Given the description of an element on the screen output the (x, y) to click on. 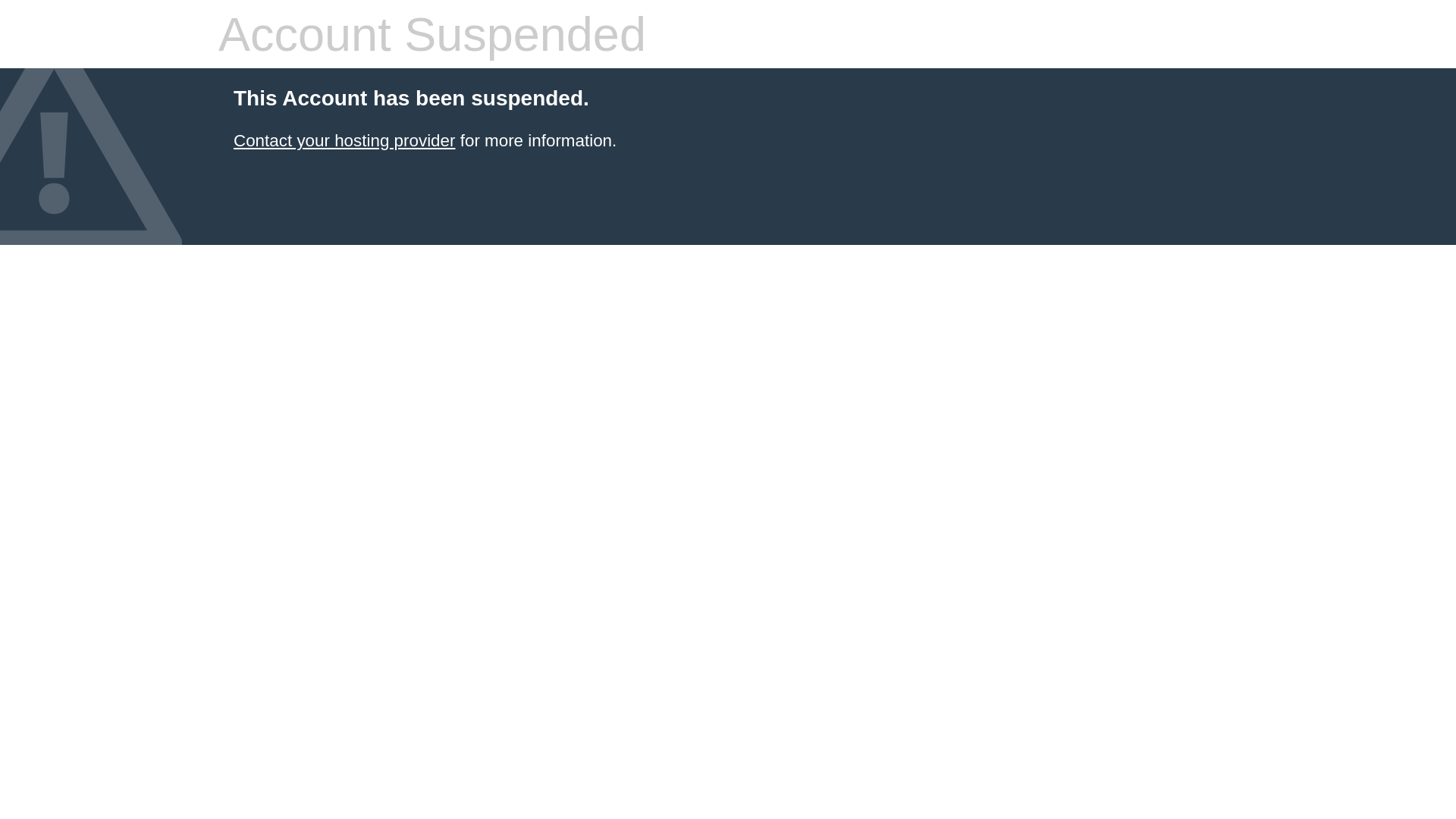
Contact your hosting provider Element type: text (344, 140)
